Given the description of an element on the screen output the (x, y) to click on. 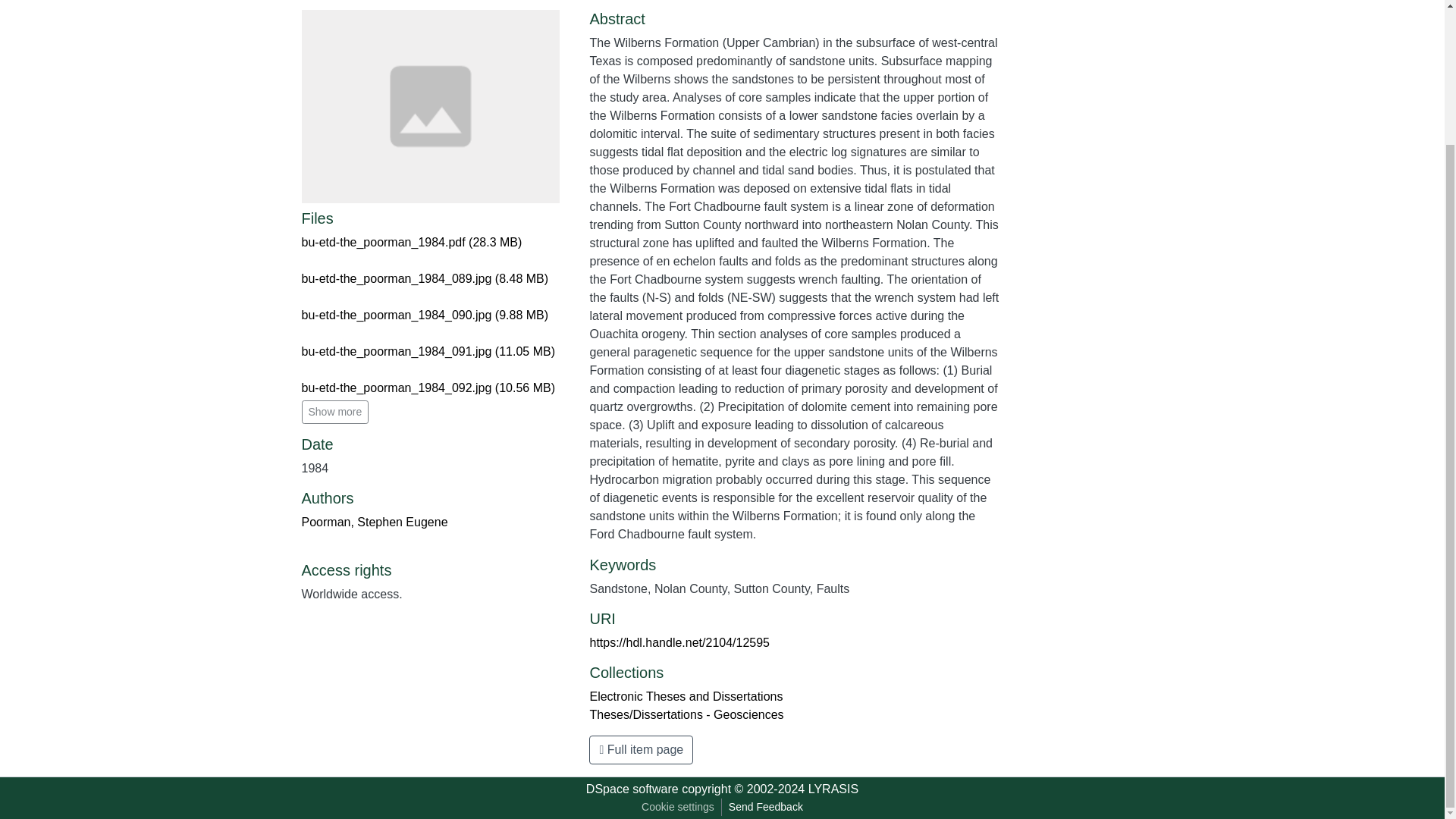
Show more (335, 412)
Cookie settings (677, 806)
LYRASIS (833, 788)
DSpace software (632, 788)
Full item page (641, 749)
Electronic Theses and Dissertations (686, 696)
Poorman, Stephen Eugene (374, 521)
Send Feedback (765, 806)
